Given the description of an element on the screen output the (x, y) to click on. 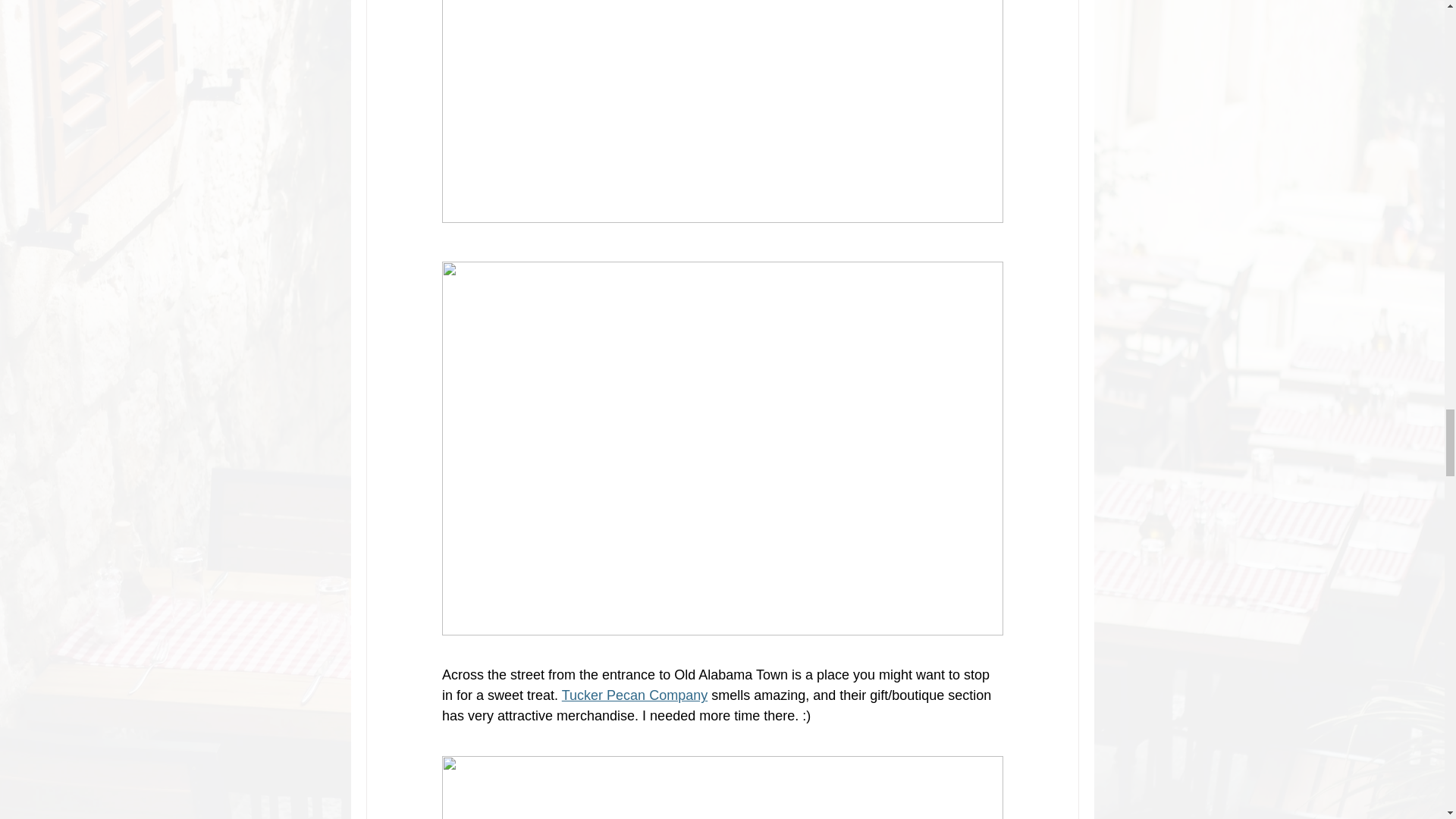
Tucker Pecan Company (633, 694)
